Given the description of an element on the screen output the (x, y) to click on. 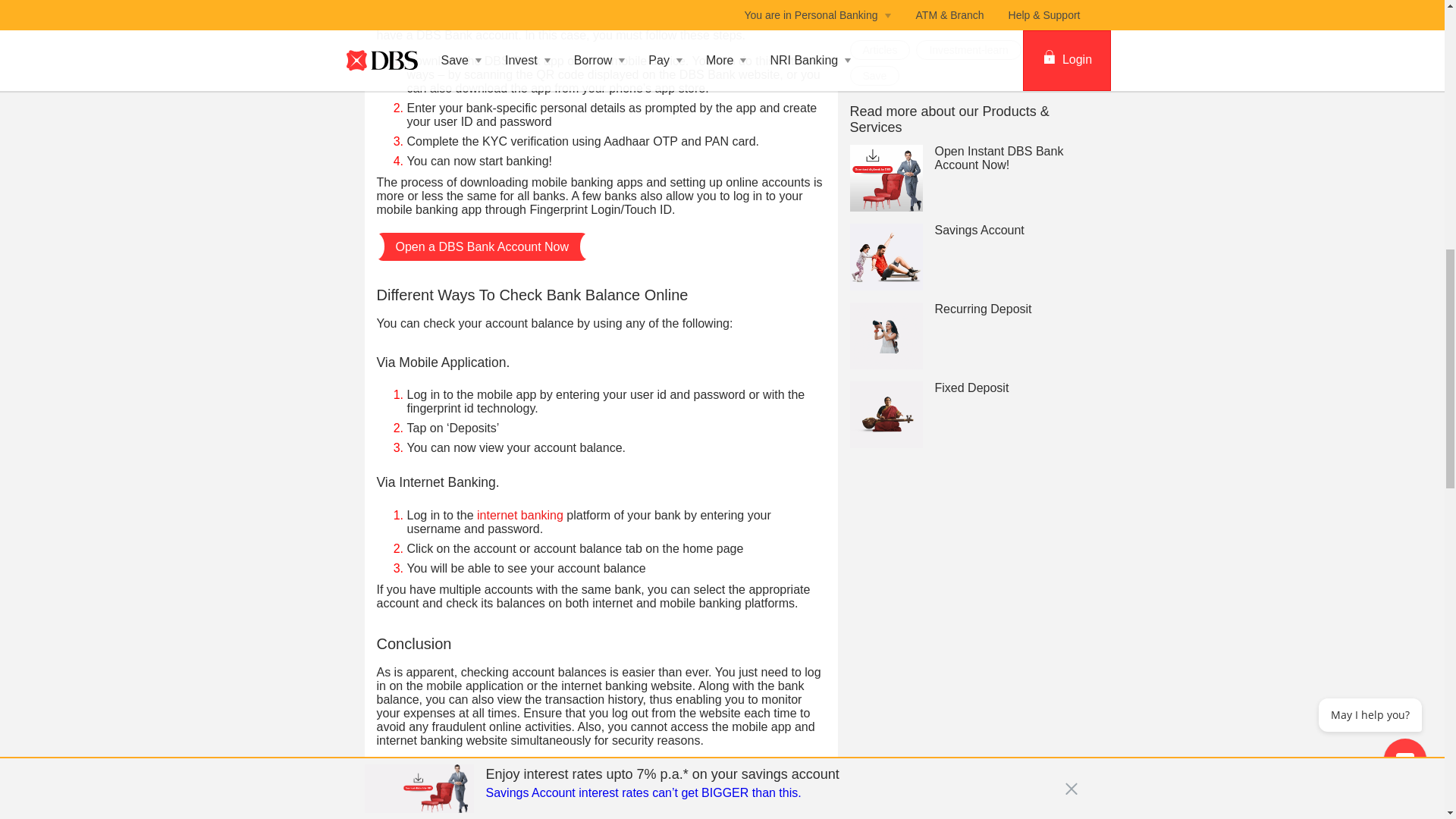
internet banking (520, 514)
savings account (640, 777)
Open a DBS Bank Account Now (481, 816)
Open a DBS Bank Account Now (481, 246)
